Given the description of an element on the screen output the (x, y) to click on. 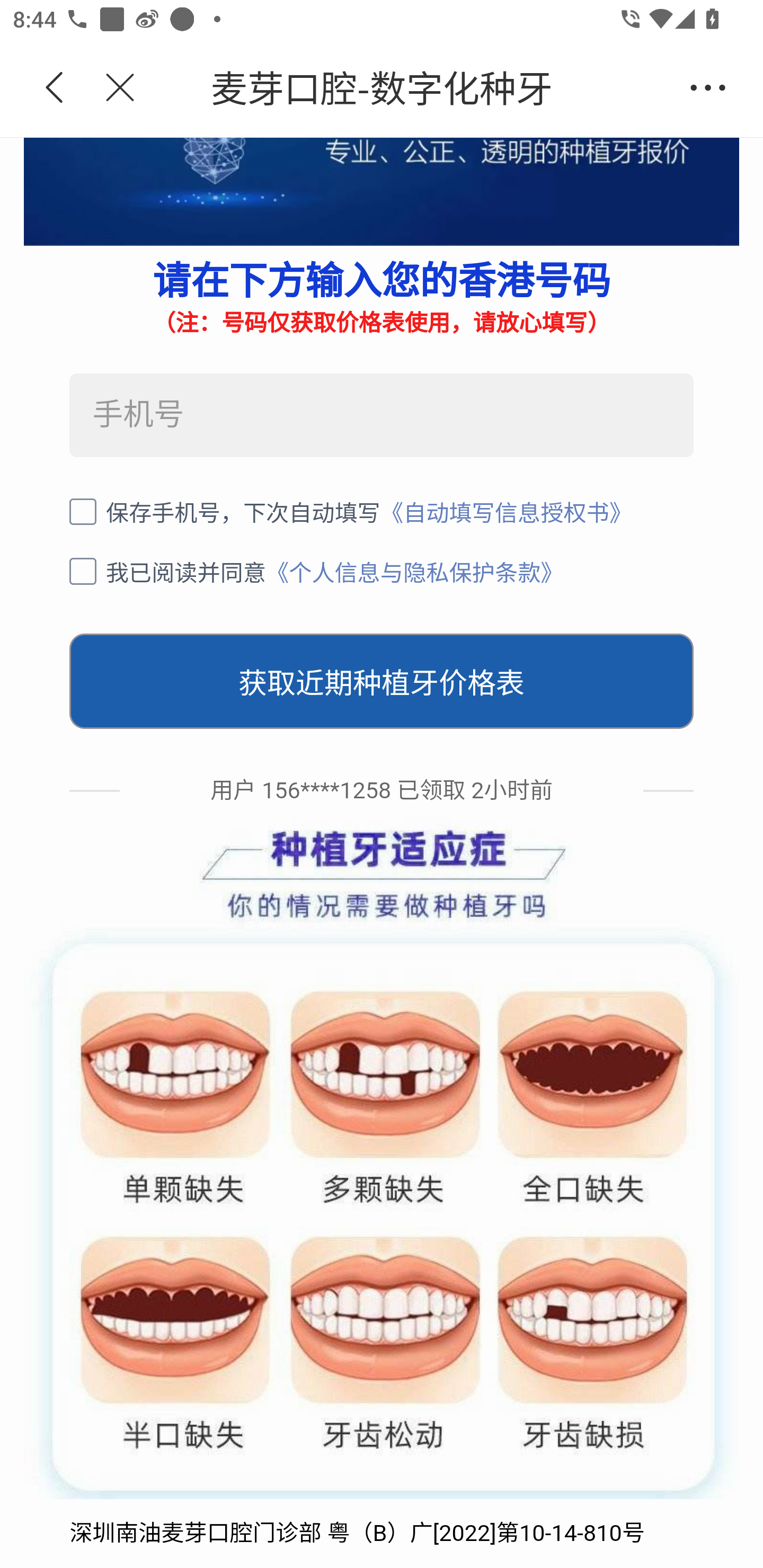
 (109, 87)
麦芽口腔-数字化种牙 (411, 87)
 返回 (54, 87)
 更多 (707, 87)
保存手机号，下次自动填写 (224, 512)
《自动填写信息授权书》 (505, 512)
我已阅读并同意 (167, 571)
《个人信息与隐私保护条款》 (414, 571)
获取近期种植牙价格表 (381, 681)
